Given the description of an element on the screen output the (x, y) to click on. 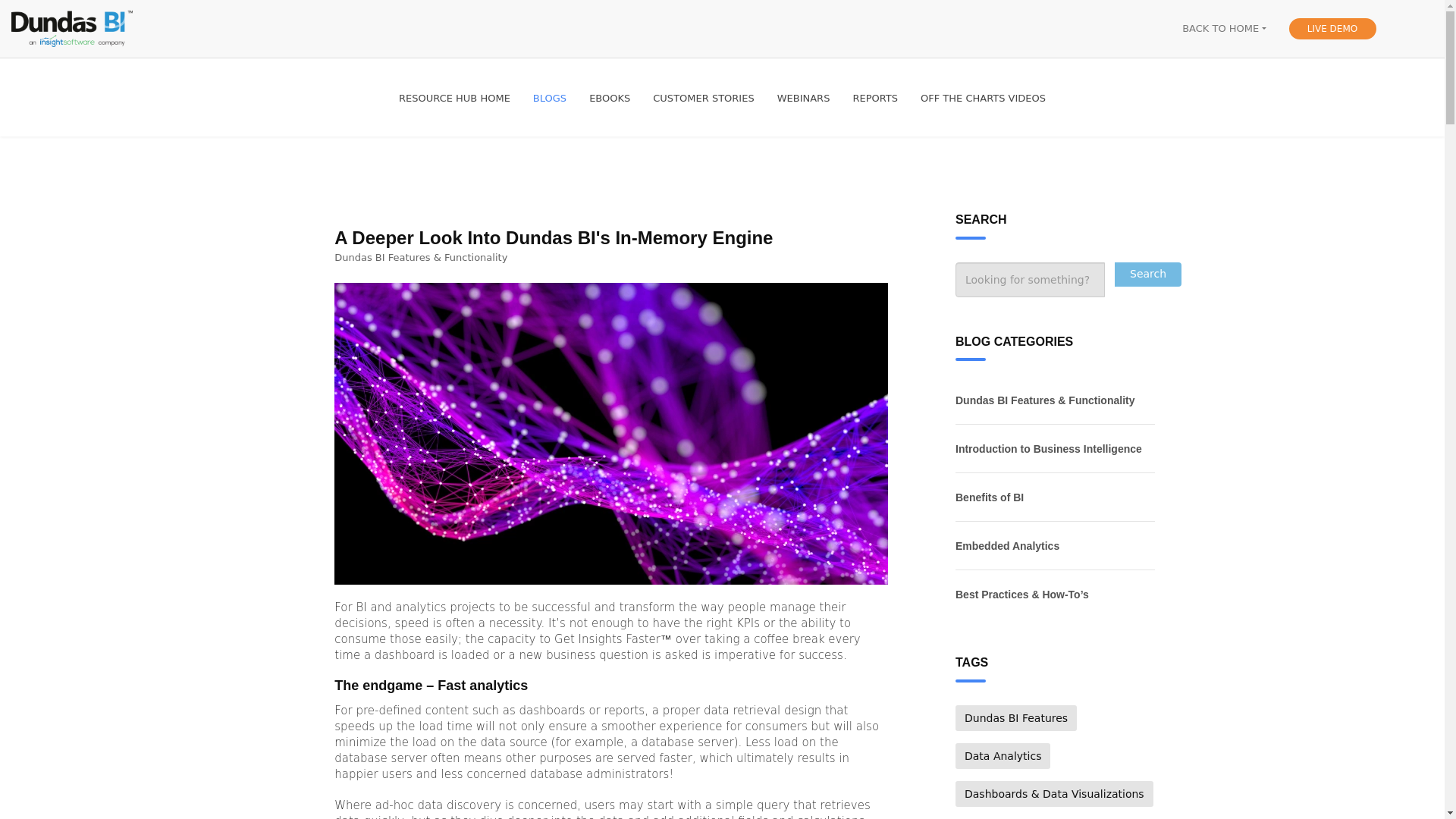
Data Analytics (1002, 755)
Introduction to Business Intelligence (1054, 449)
WEBINARS (803, 98)
REPORTS (874, 98)
OFF THE CHARTS VIDEOS (982, 98)
Dundas BI Features (1016, 718)
CUSTOMER STORIES (703, 98)
LIVE DEMO (1331, 28)
BACK TO HOME (1224, 28)
RESOURCE HUB HOME (454, 98)
